Given the description of an element on the screen output the (x, y) to click on. 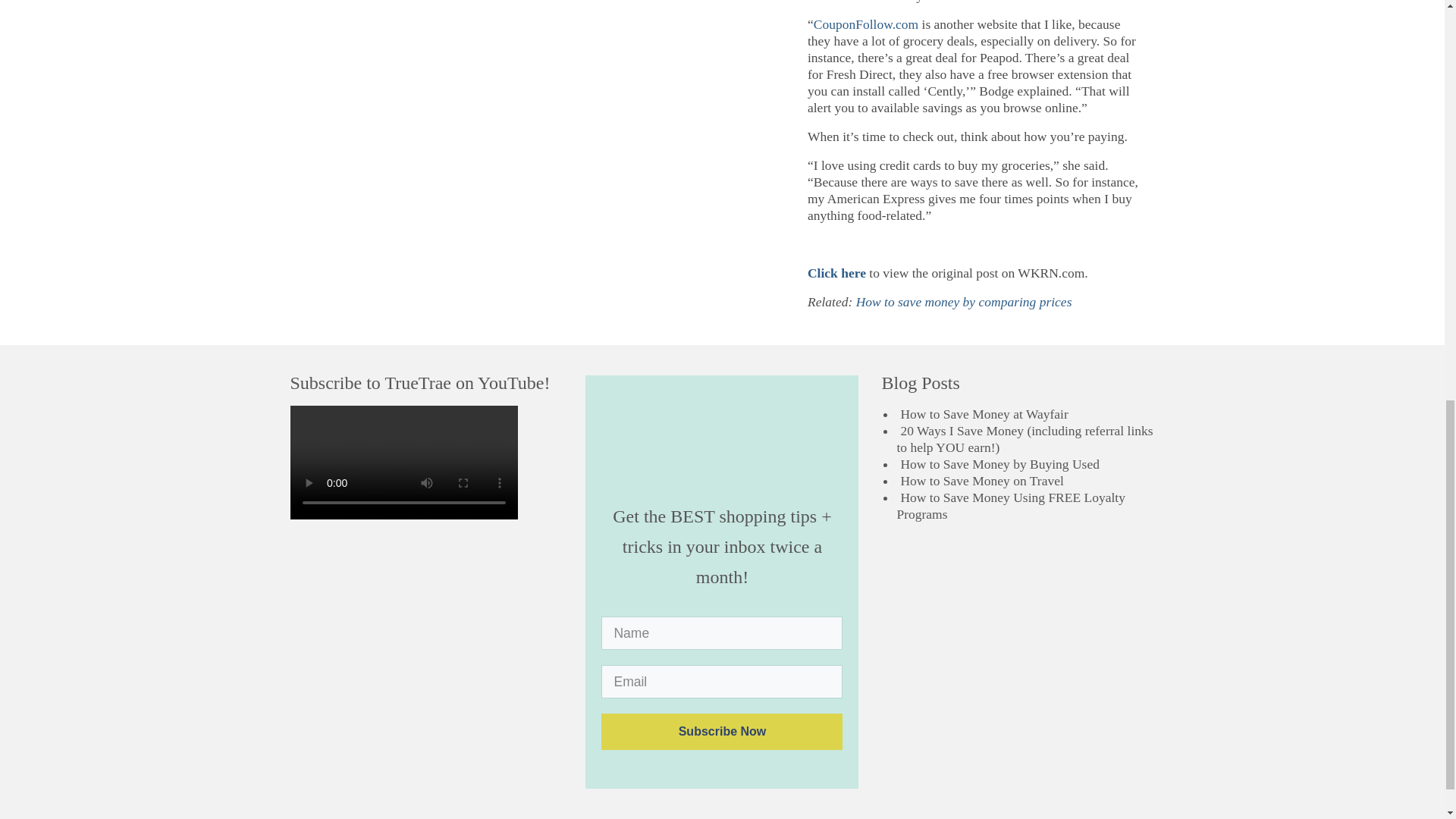
800 smart shopper (721, 445)
